Given the description of an element on the screen output the (x, y) to click on. 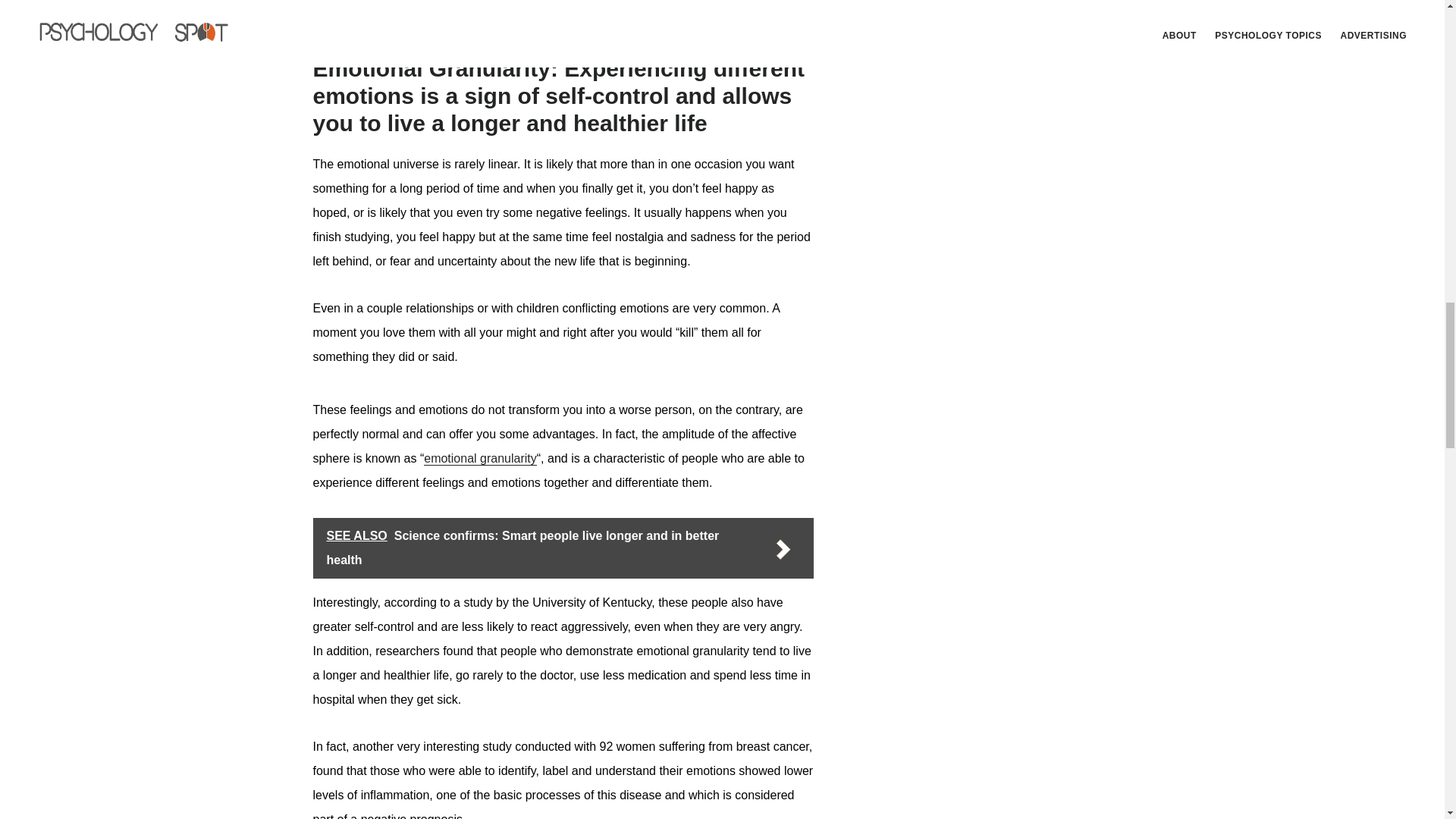
emotional granularity (480, 459)
